Given the description of an element on the screen output the (x, y) to click on. 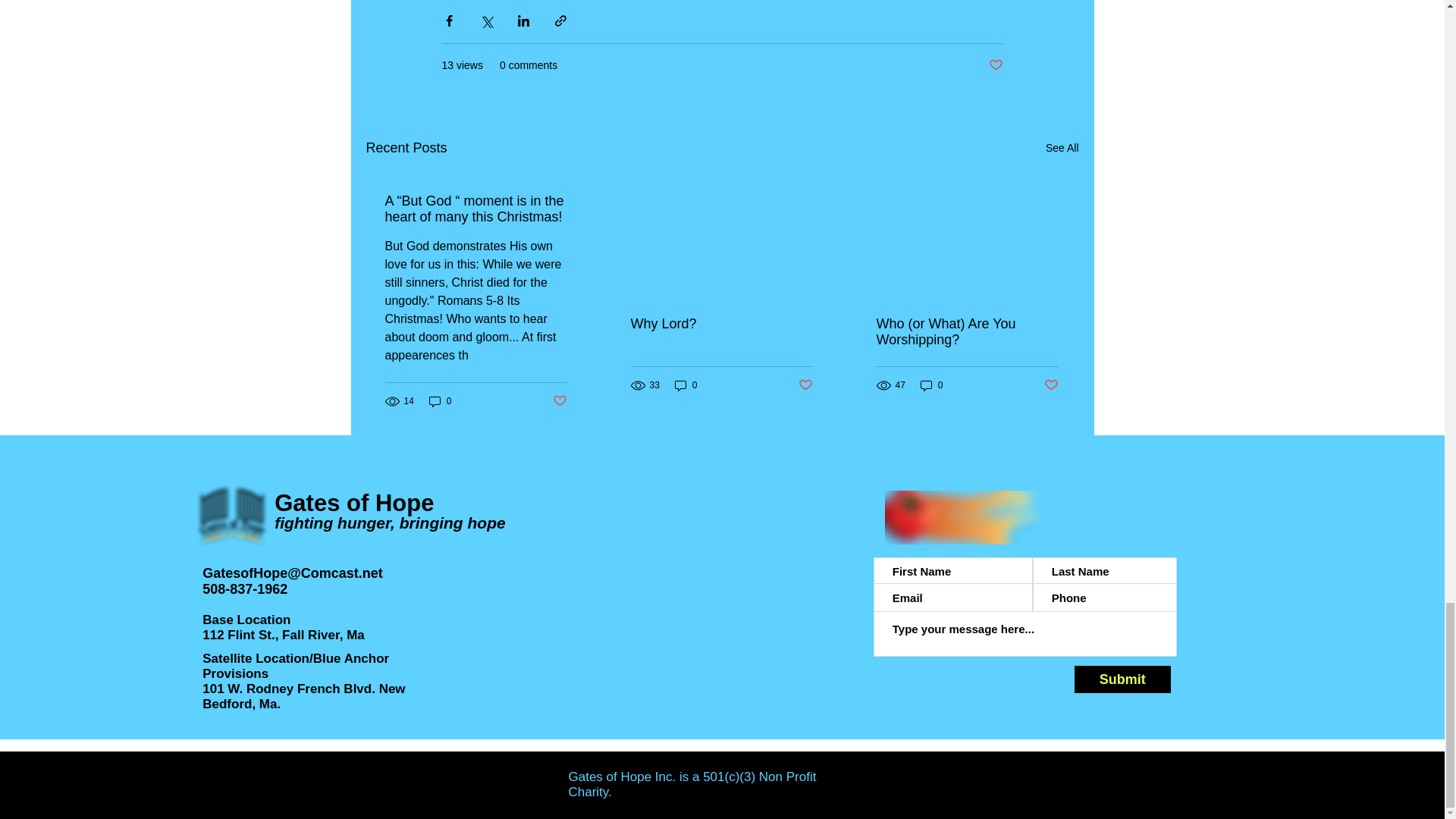
See All (1061, 147)
Post not marked as liked (995, 65)
Post not marked as liked (804, 385)
Post not marked as liked (558, 401)
0 (685, 385)
Why Lord? (721, 324)
0 (440, 400)
